Given the description of an element on the screen output the (x, y) to click on. 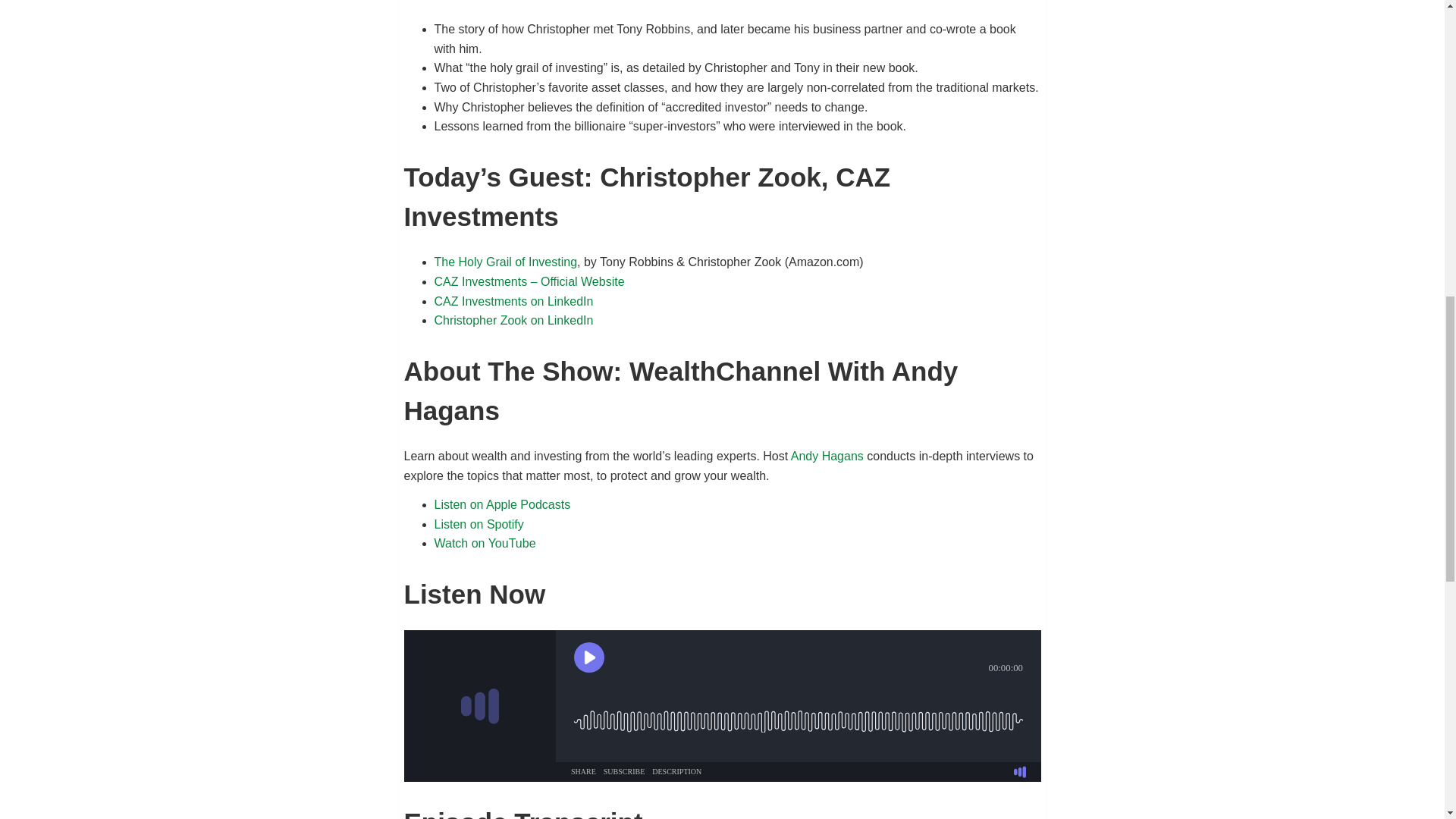
The Holy Grail of Investing (504, 261)
Andy Hagans (826, 455)
Christopher Zook on LinkedIn (512, 319)
Watch on YouTube (484, 543)
Listen on Apple Podcasts (501, 504)
CAZ Investments on LinkedIn (512, 300)
Listen on Spotify (477, 523)
